Given the description of an element on the screen output the (x, y) to click on. 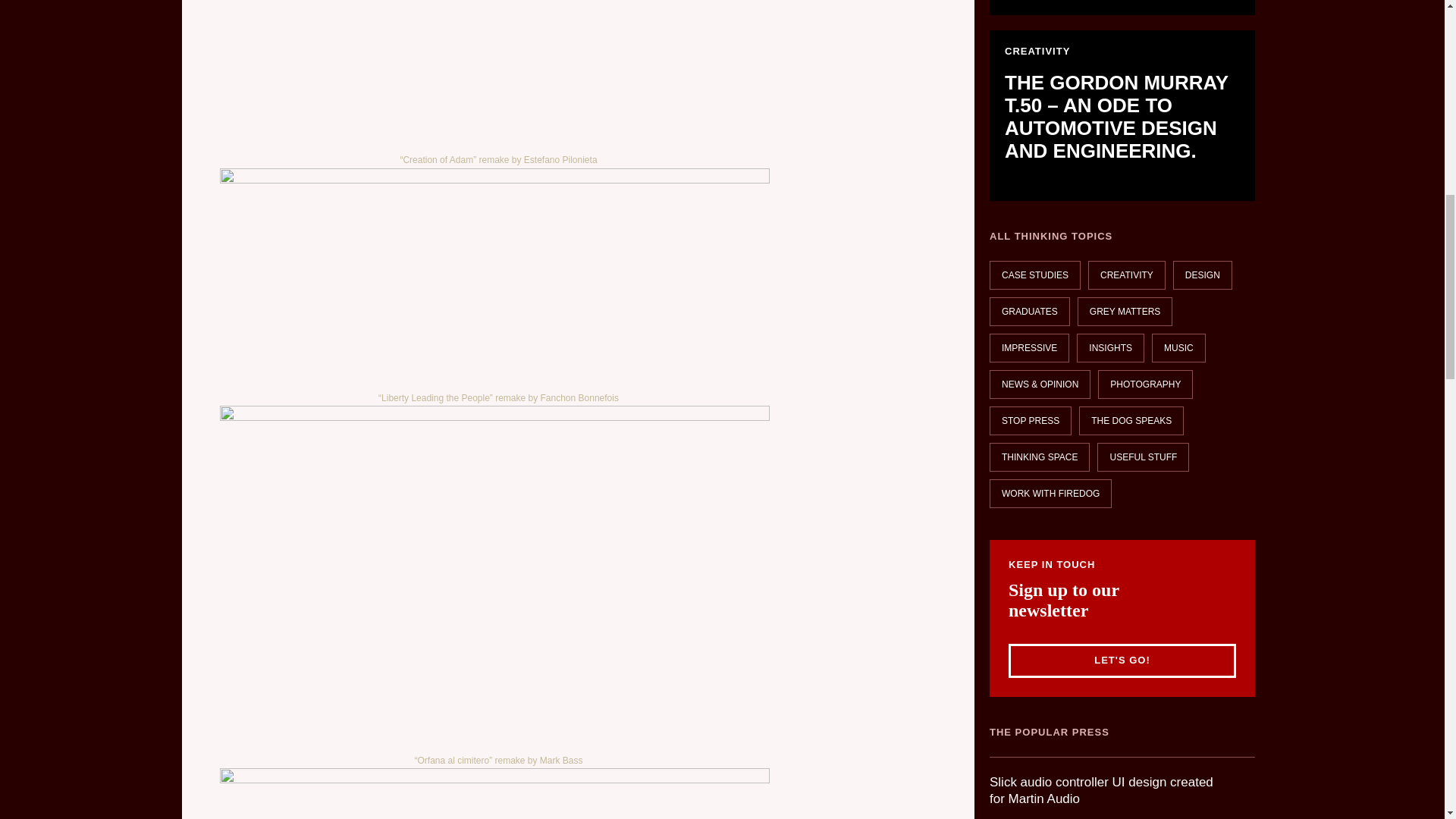
Case Studies (1035, 275)
IMPRESSIVE (1029, 347)
DESIGN (1202, 275)
MUSIC (1179, 347)
Alternative views from illustrator Steve Cutts (1122, 7)
PHOTOGRAPHY (1122, 7)
CREATIVITY (1145, 384)
STOP PRESS (1126, 275)
Graduates (1030, 420)
